Given the description of an element on the screen output the (x, y) to click on. 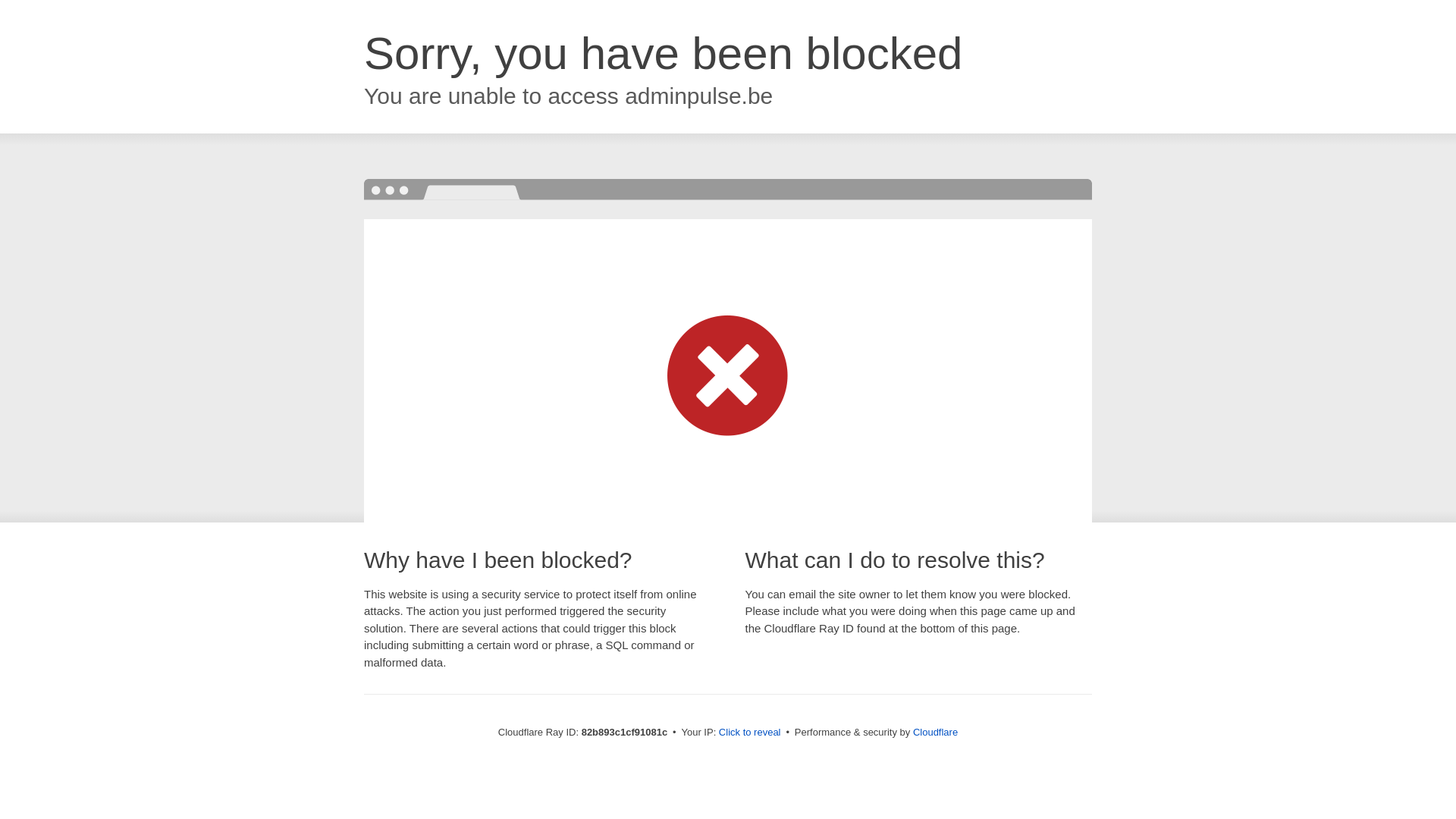
Click to reveal Element type: text (749, 732)
Cloudflare Element type: text (935, 731)
